Given the description of an element on the screen output the (x, y) to click on. 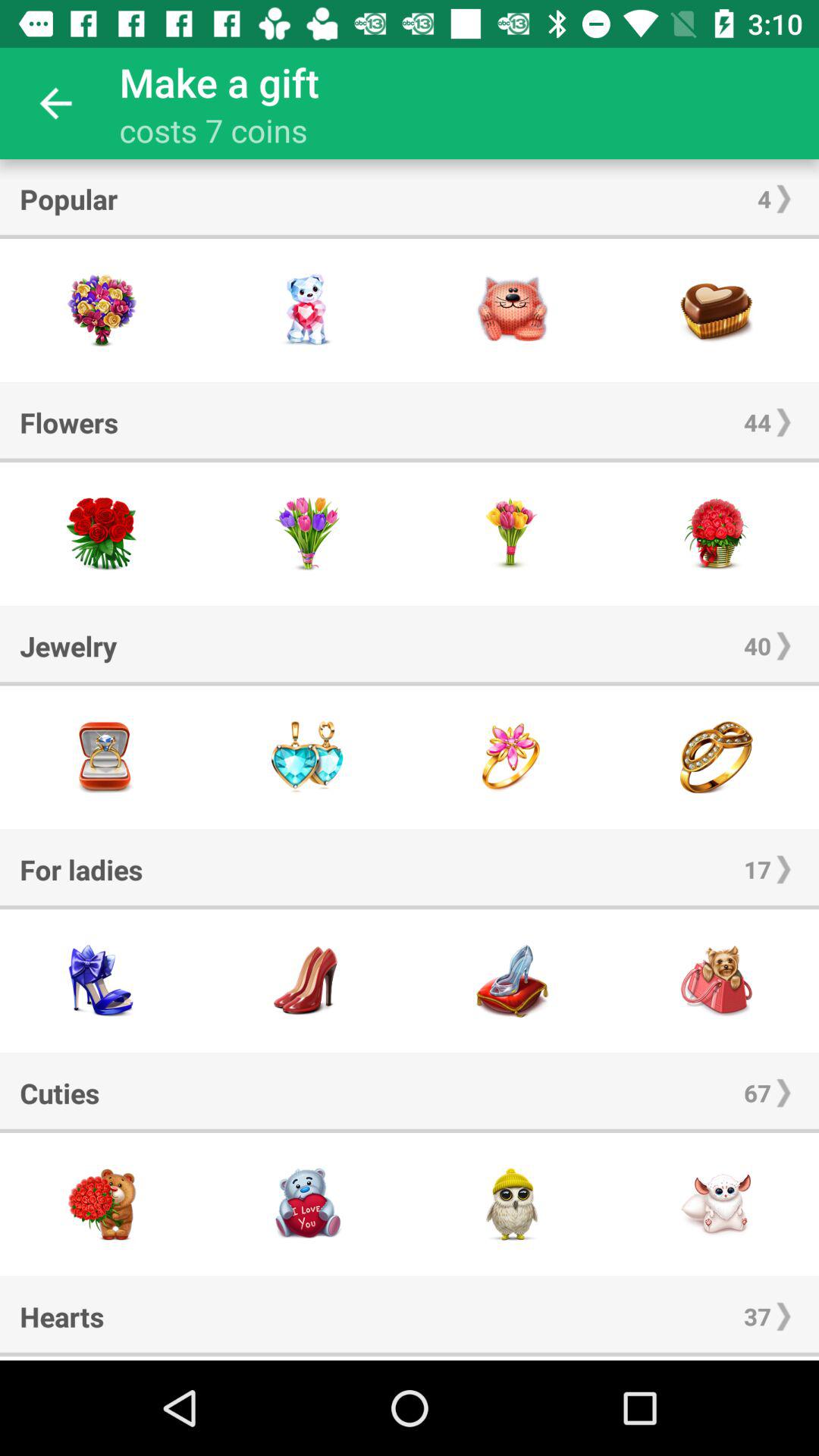
click last option in 3rd row (716, 757)
